Given the description of an element on the screen output the (x, y) to click on. 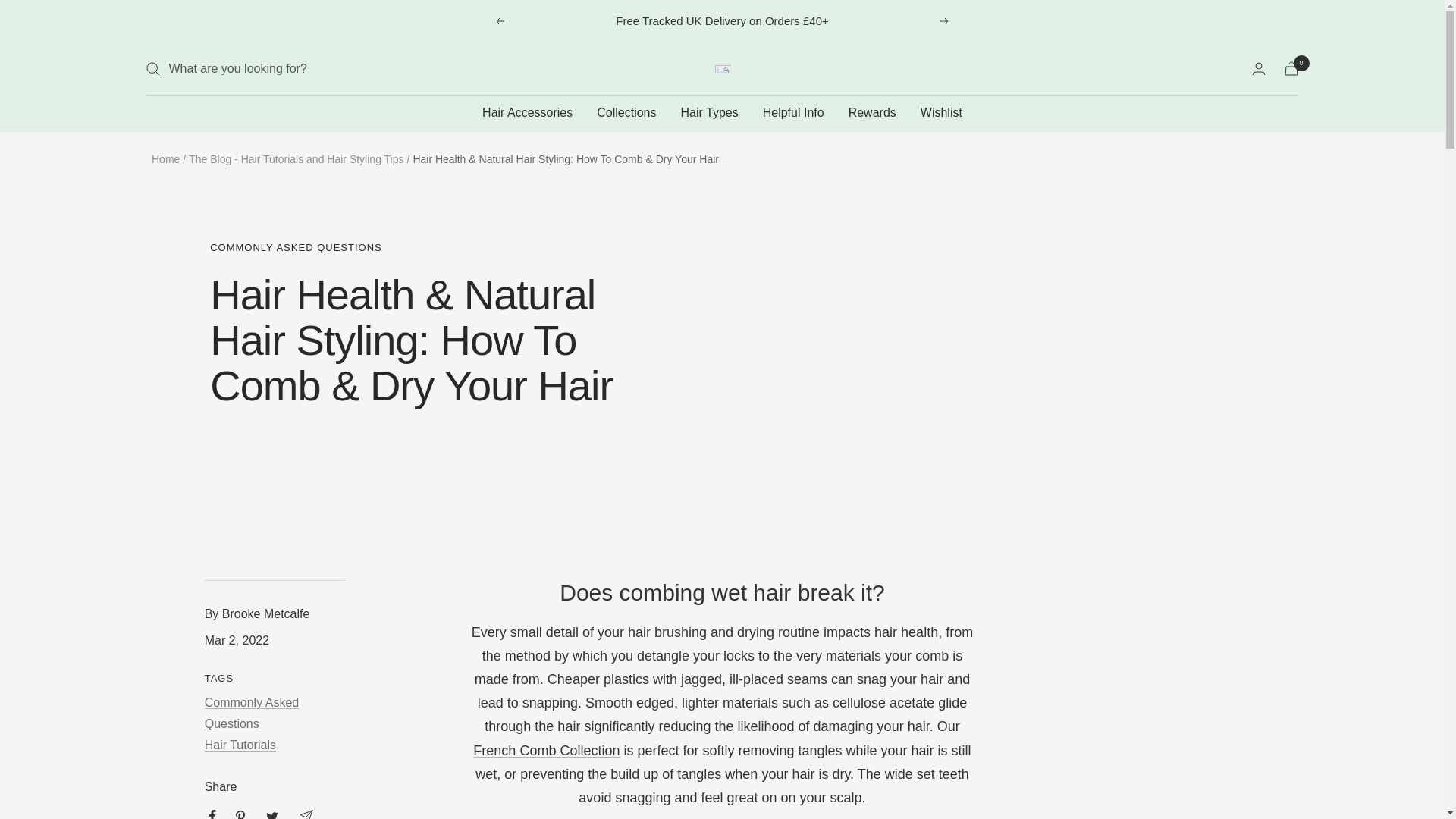
French Comb Collection (546, 750)
COMMONLY ASKED QUESTIONS (438, 247)
0 (1290, 68)
Tegen Accessories (721, 68)
Home (165, 159)
Helpful Info (793, 112)
Hair Types (709, 112)
Previous (499, 21)
Commonly Asked Questions (252, 713)
Collections (626, 112)
Hair Tutorials (240, 744)
Rewards (872, 112)
The Blog - Hair Tutorials and Hair Styling Tips (296, 159)
French Comb Collection (546, 750)
Wishlist (941, 112)
